Given the description of an element on the screen output the (x, y) to click on. 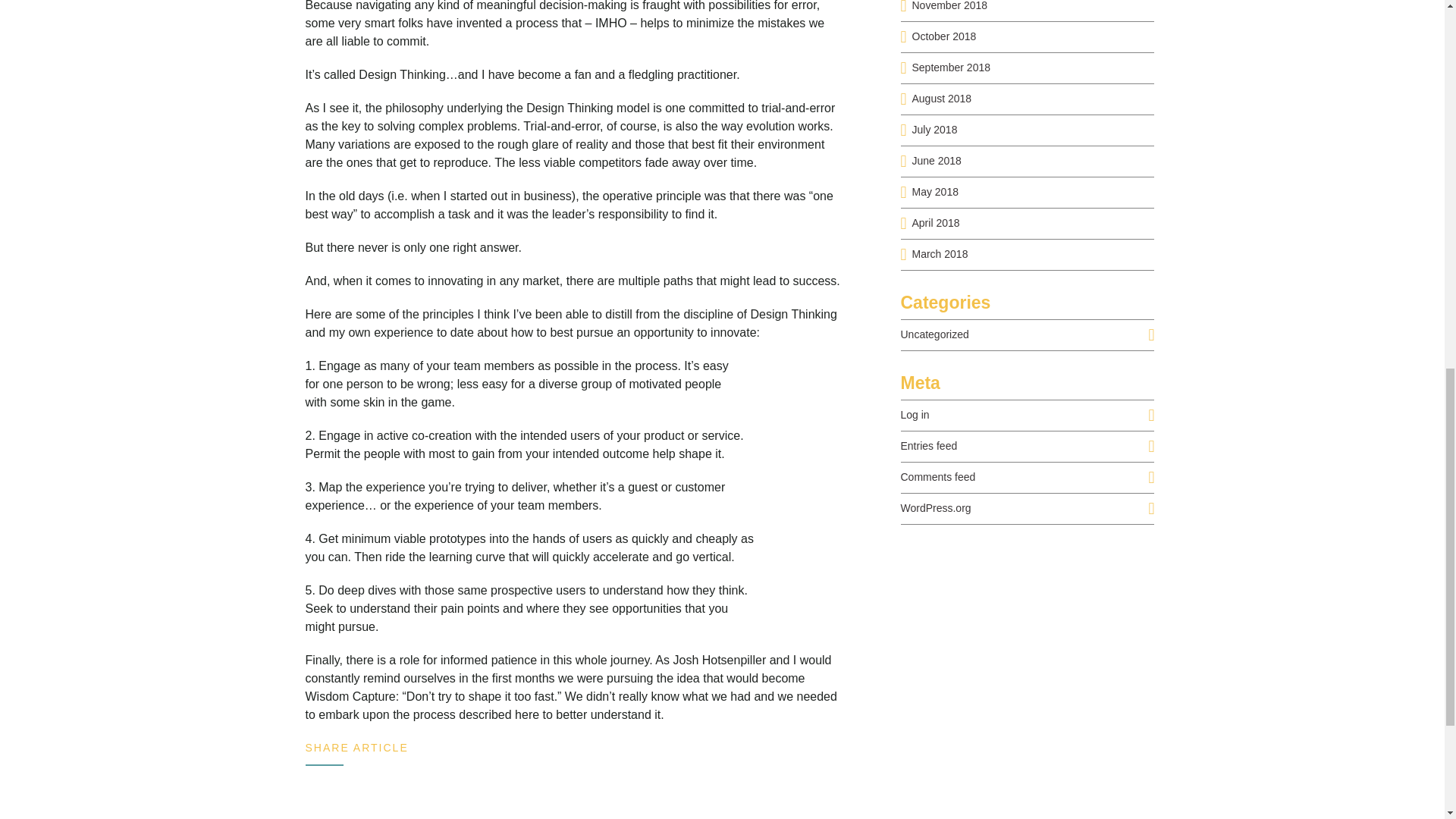
Entries feed (929, 445)
November 2018 (949, 5)
SHARE ARTICLE (355, 747)
June 2018 (935, 160)
WordPress.org (936, 508)
August 2018 (941, 98)
September 2018 (950, 67)
Log in (915, 414)
Comments feed (938, 476)
Uncategorized (935, 334)
October 2018 (943, 36)
March 2018 (939, 254)
April 2018 (935, 223)
July 2018 (933, 129)
May 2018 (934, 191)
